Given the description of an element on the screen output the (x, y) to click on. 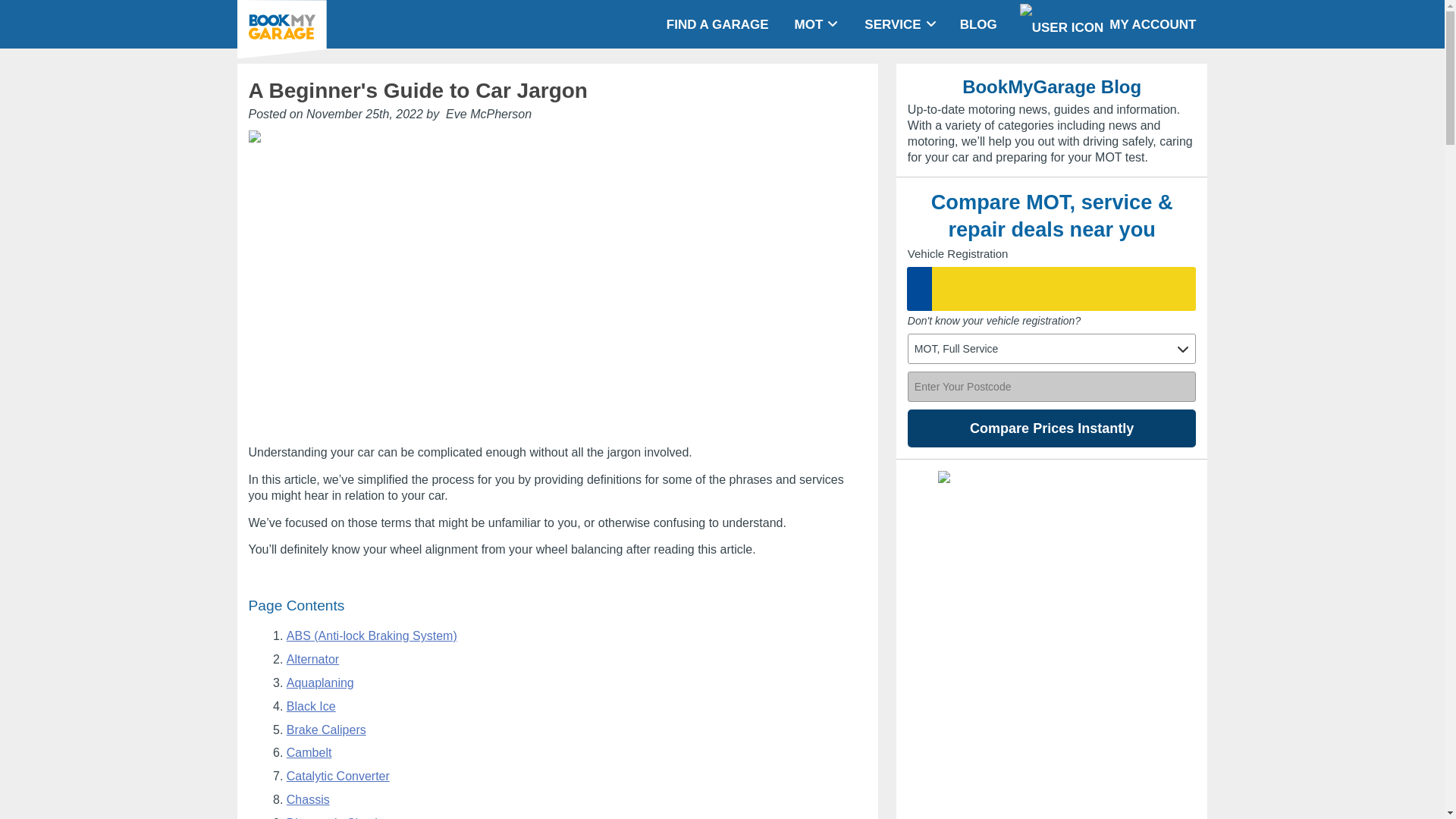
Brake Calipers (326, 729)
BookMyGarage Logo (280, 29)
Cambelt (308, 752)
Aquaplaning (319, 682)
Black Ice (311, 706)
FIND A GARAGE (717, 24)
Chassis (308, 799)
Alternator (312, 658)
Diagnostic Check (333, 817)
Catalytic Converter (338, 775)
